Given the description of an element on the screen output the (x, y) to click on. 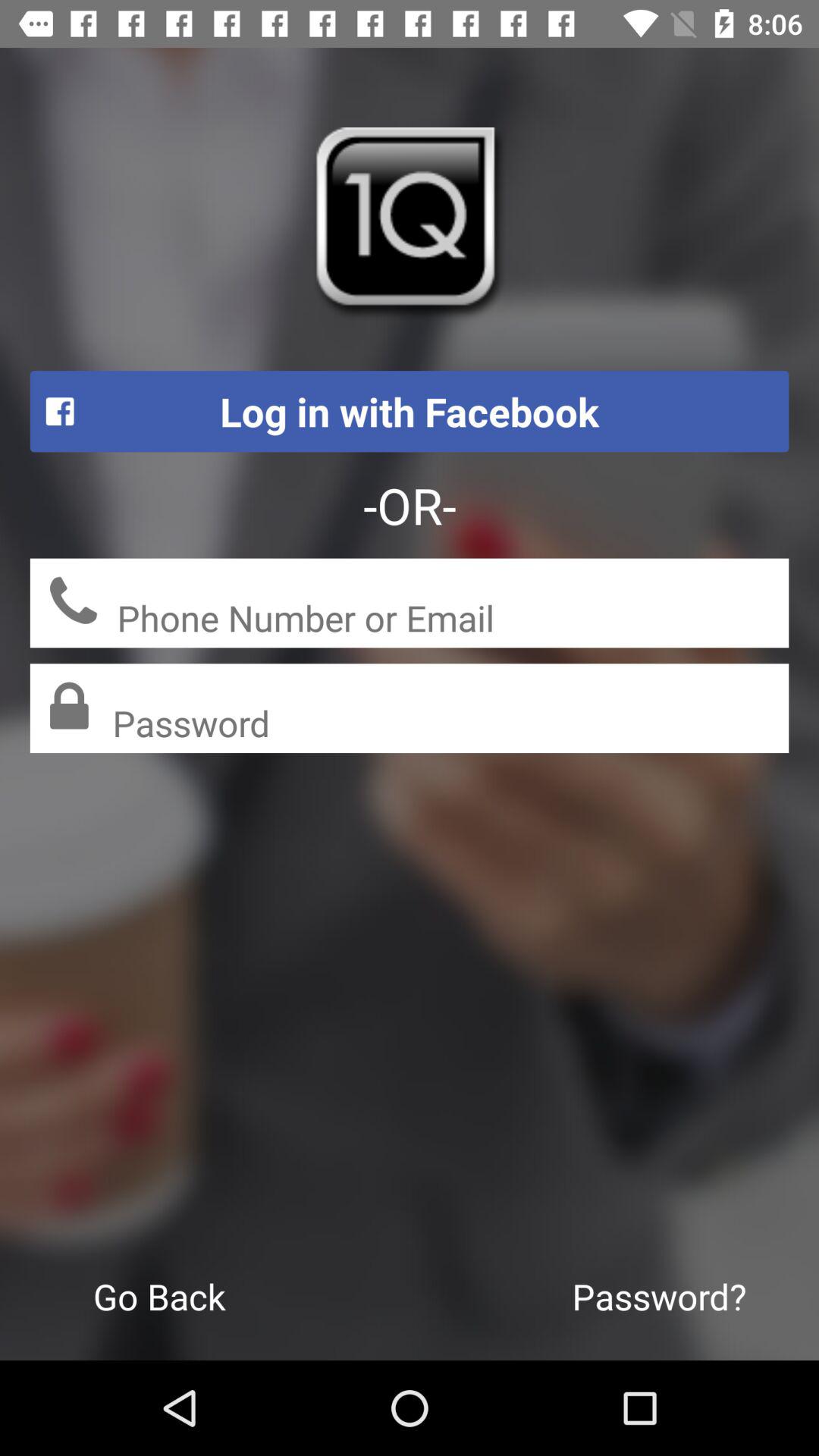
enter login information (452, 619)
